Given the description of an element on the screen output the (x, y) to click on. 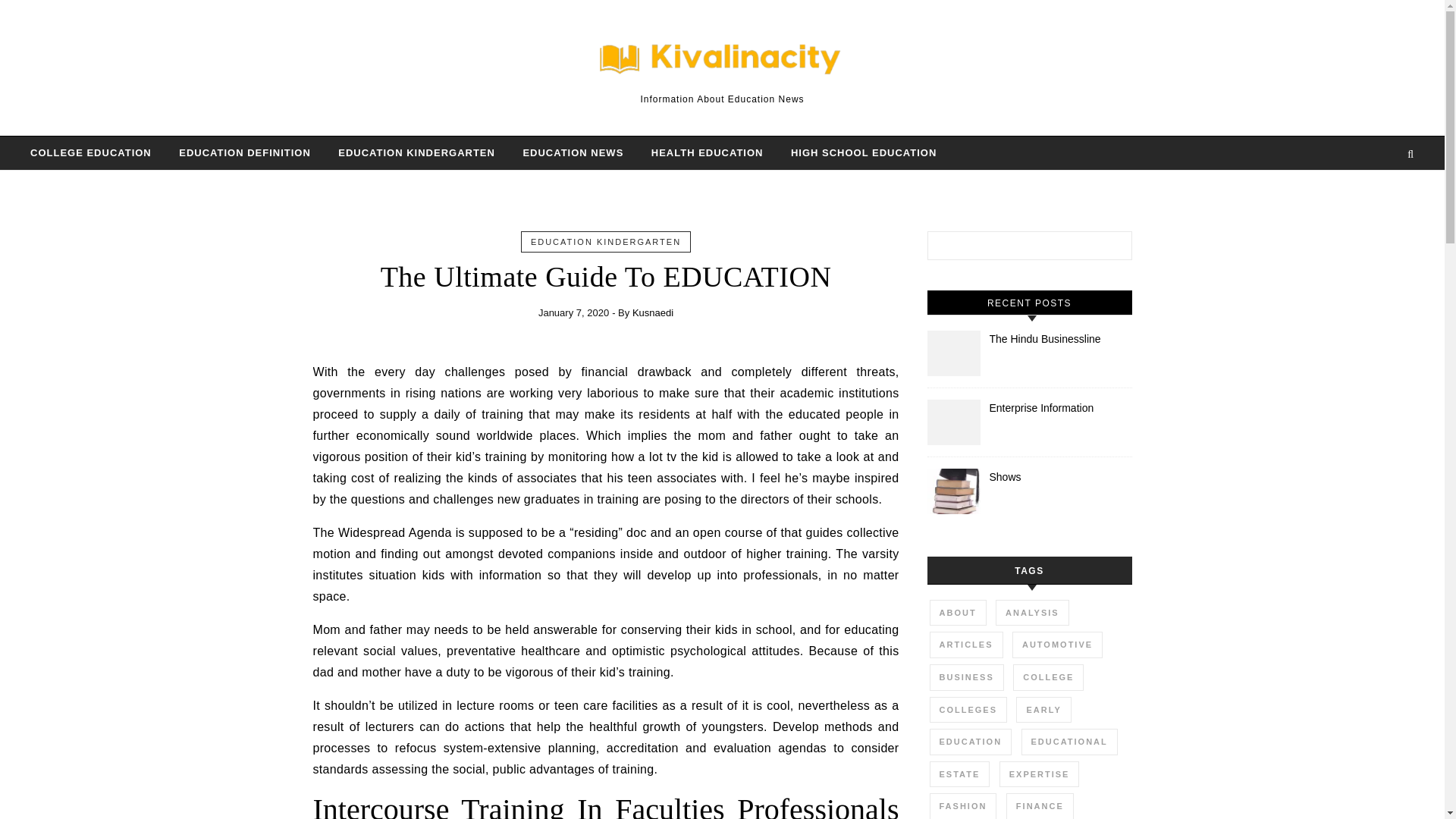
Search (1104, 248)
Kusnaedi (651, 312)
KVC (721, 60)
COLLEGES (968, 709)
EDUCATION KINDERGARTEN (606, 241)
COLLEGE EDUCATION (96, 152)
EDUCATION DEFINITION (245, 152)
HEALTH EDUCATION (707, 152)
EDUCATION NEWS (572, 152)
Posts by Kusnaedi (651, 312)
ABOUT (958, 612)
HIGH SCHOOL EDUCATION (857, 152)
BUSINESS (967, 677)
AUTOMOTIVE (1056, 644)
ANALYSIS (1031, 612)
